Given the description of an element on the screen output the (x, y) to click on. 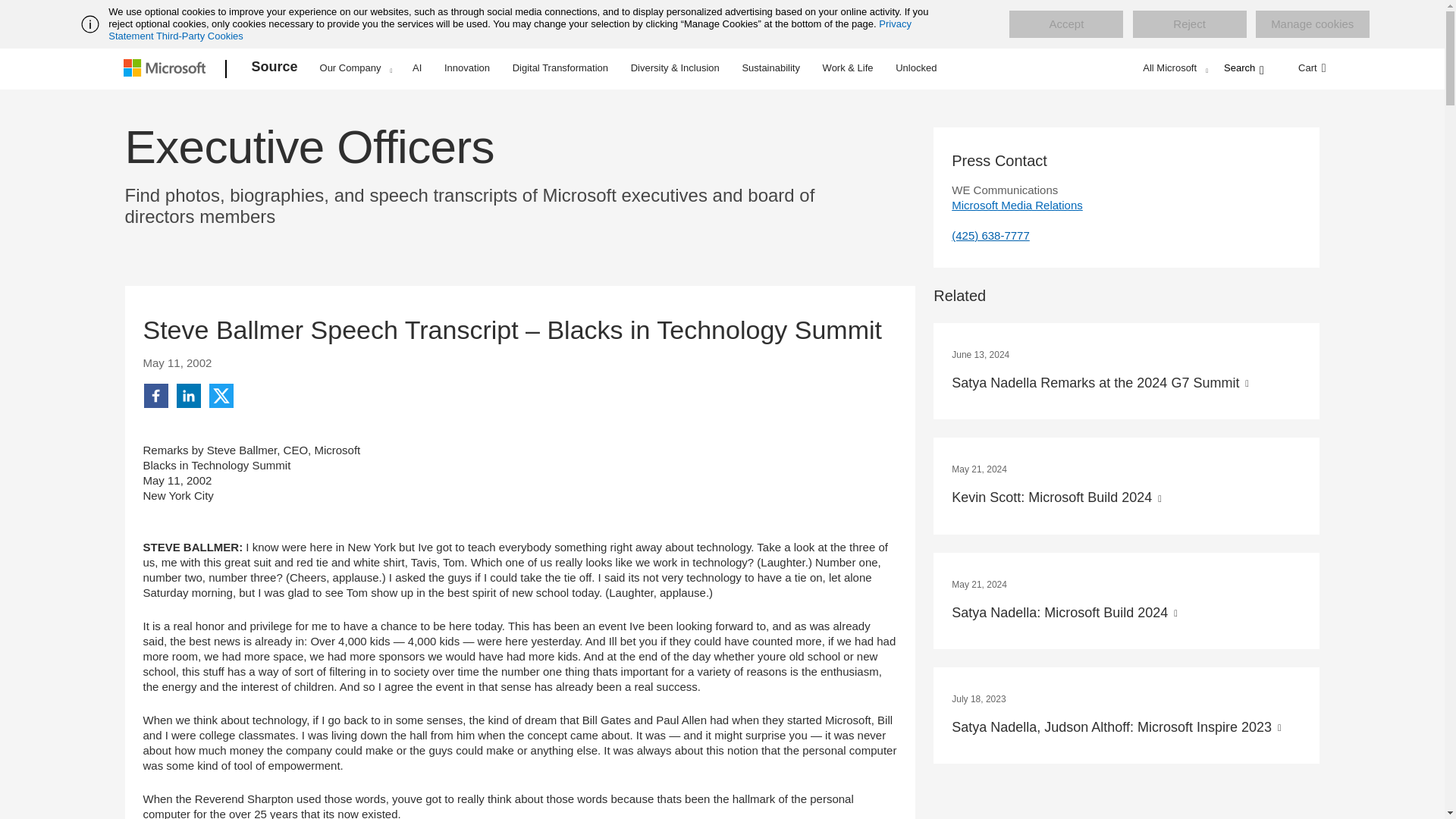
Privacy Statement (509, 29)
Innovation (467, 67)
All Microsoft (1173, 67)
Source (274, 69)
Digital Transformation (559, 67)
Unlocked (915, 67)
Microsoft (167, 69)
Third-Party Cookies (199, 35)
Manage cookies (1312, 23)
Our Company (355, 67)
Sustainability (770, 67)
Reject (1189, 23)
Accept (1065, 23)
